Given the description of an element on the screen output the (x, y) to click on. 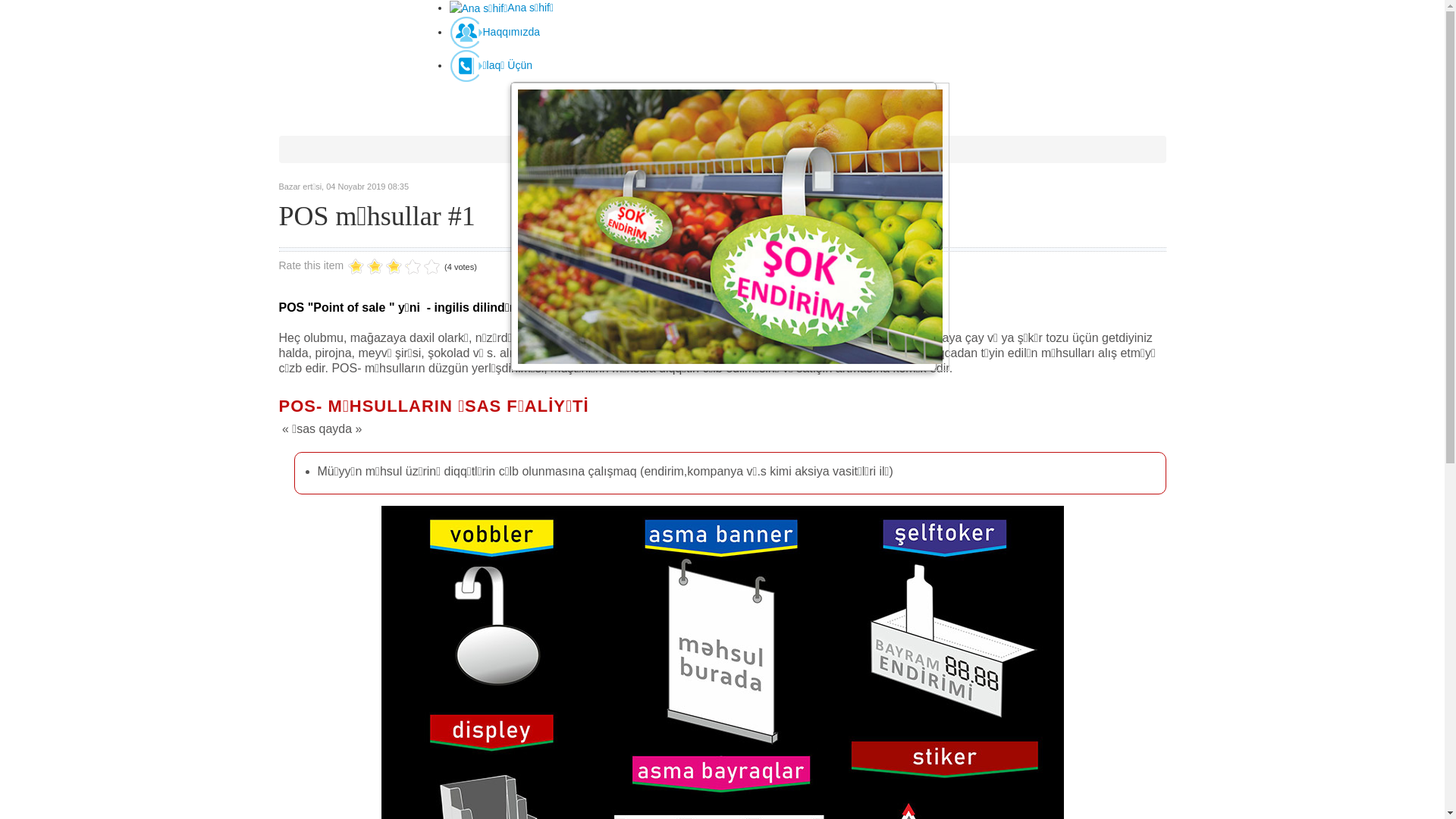
1 Element type: text (355, 266)
2 Element type: text (365, 266)
Click to preview image Element type: hover (722, 226)
5 Element type: text (393, 266)
4 Element type: text (384, 266)
3 Element type: text (374, 266)
